Given the description of an element on the screen output the (x, y) to click on. 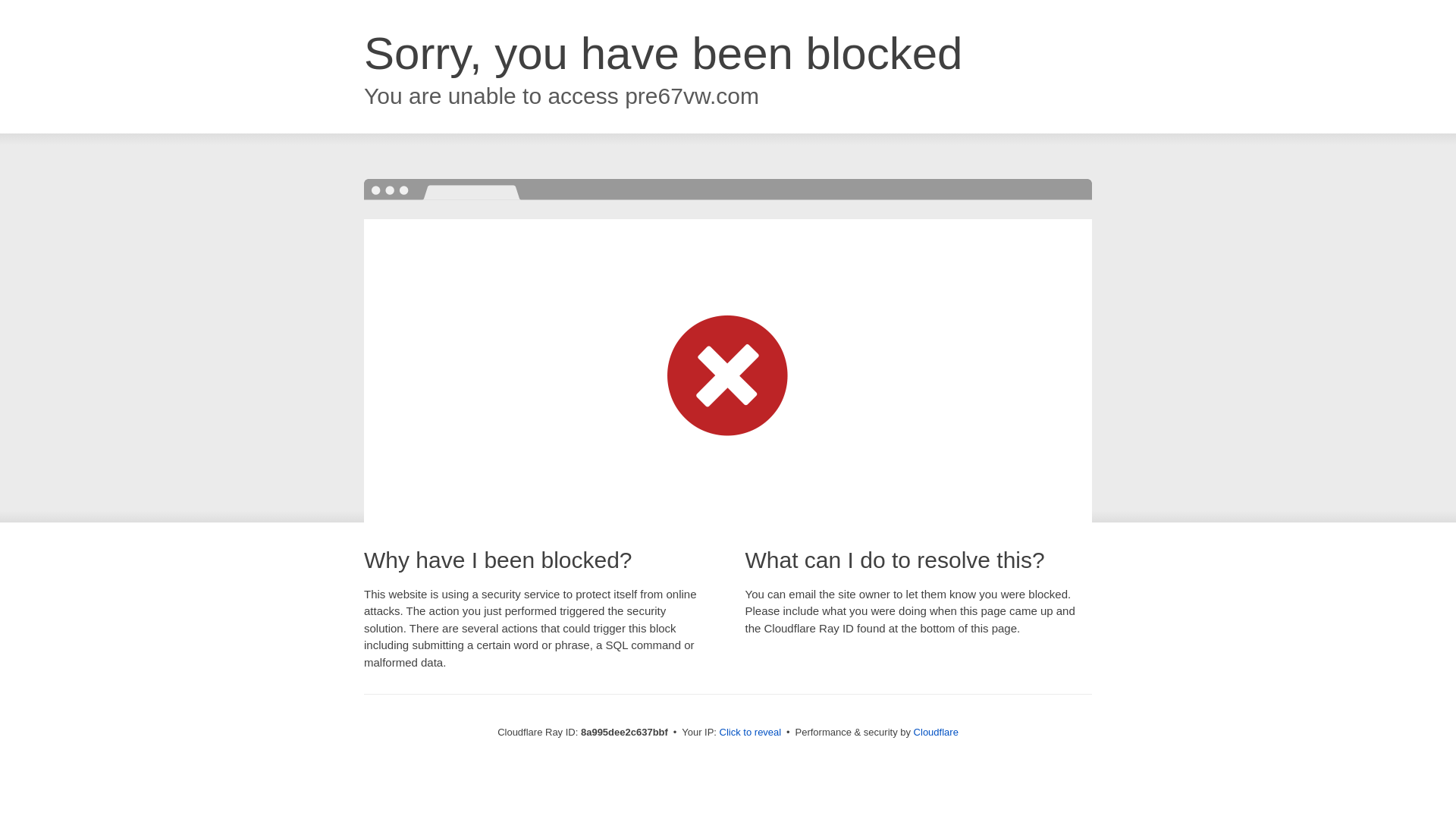
Cloudflare (936, 731)
Click to reveal (750, 732)
